Given the description of an element on the screen output the (x, y) to click on. 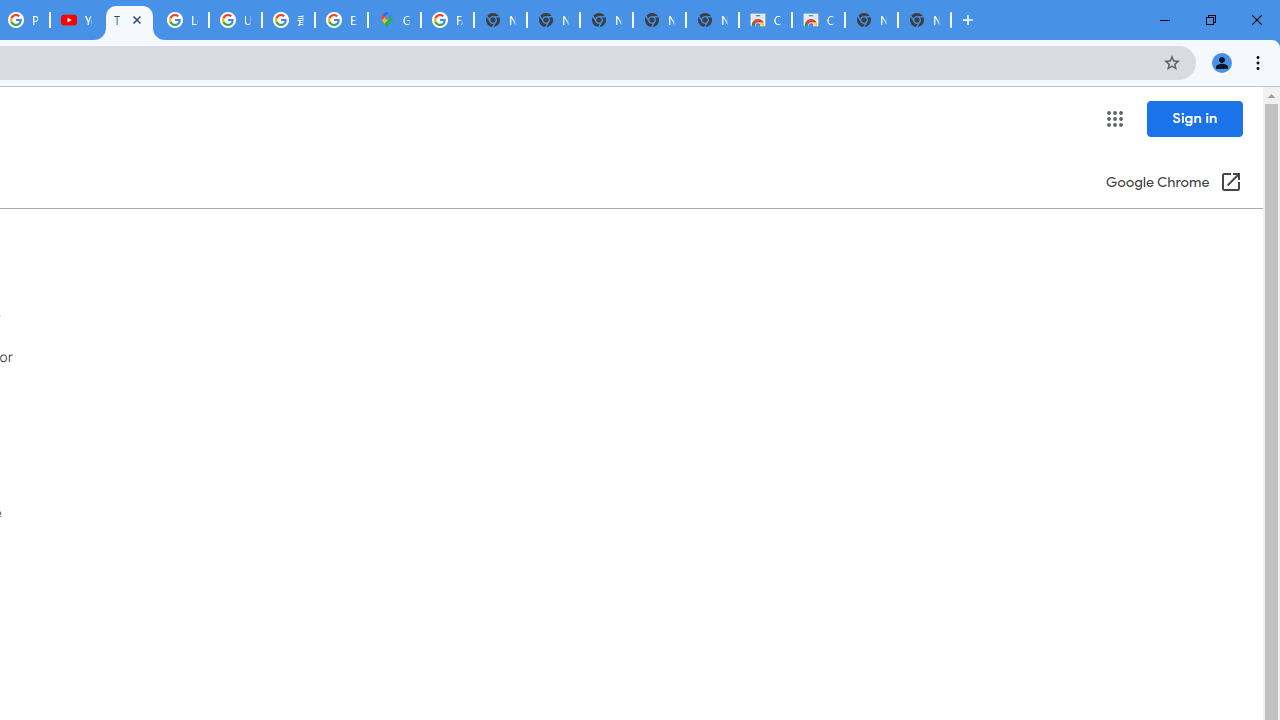
Explore new street-level details - Google Maps Help (341, 20)
New Tab (924, 20)
Tips & tricks for Chrome - Google Chrome Help (129, 20)
